Given the description of an element on the screen output the (x, y) to click on. 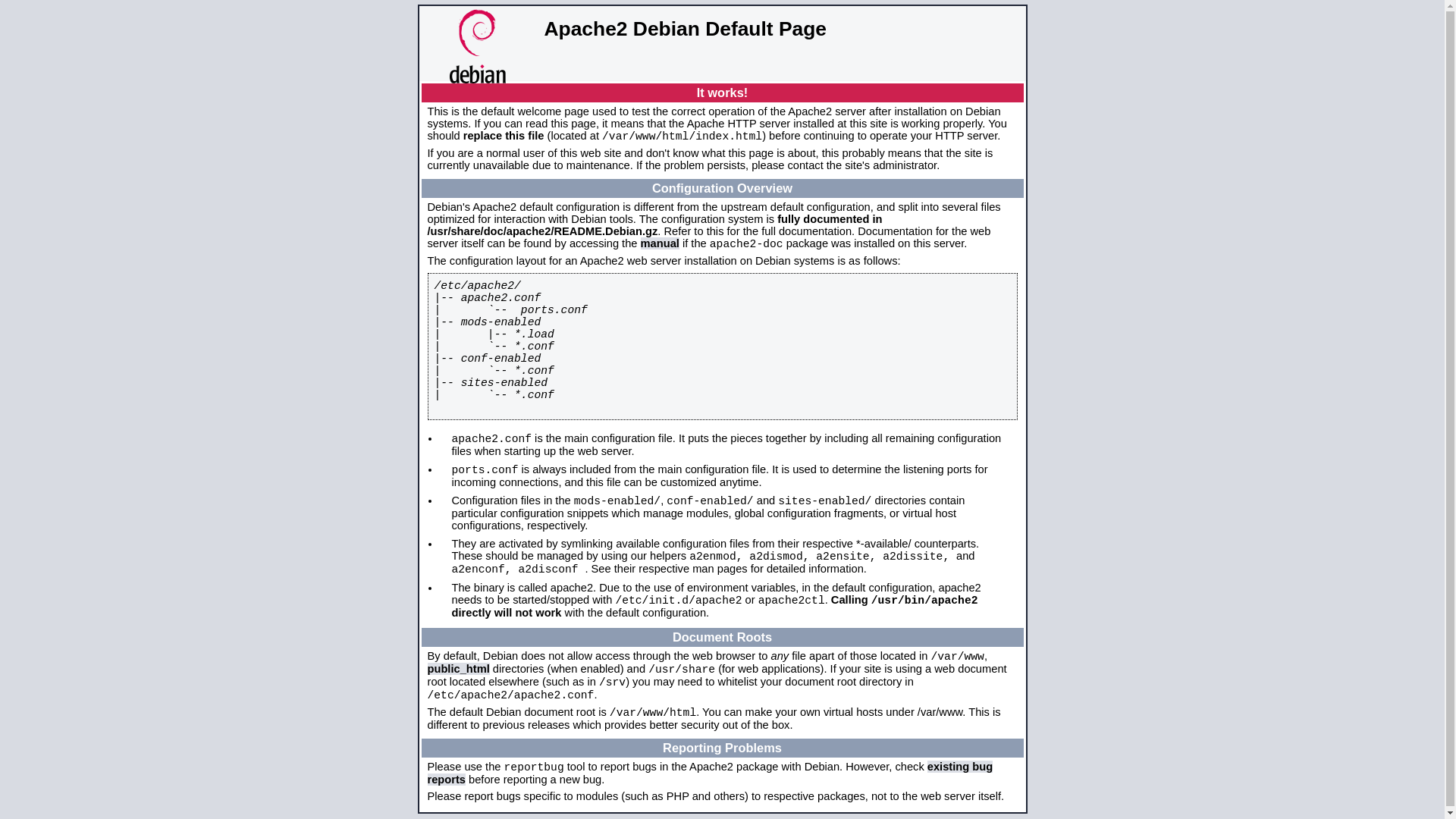
manual Element type: text (659, 243)
public_html Element type: text (458, 668)
existing bug reports Element type: text (710, 772)
